Given the description of an element on the screen output the (x, y) to click on. 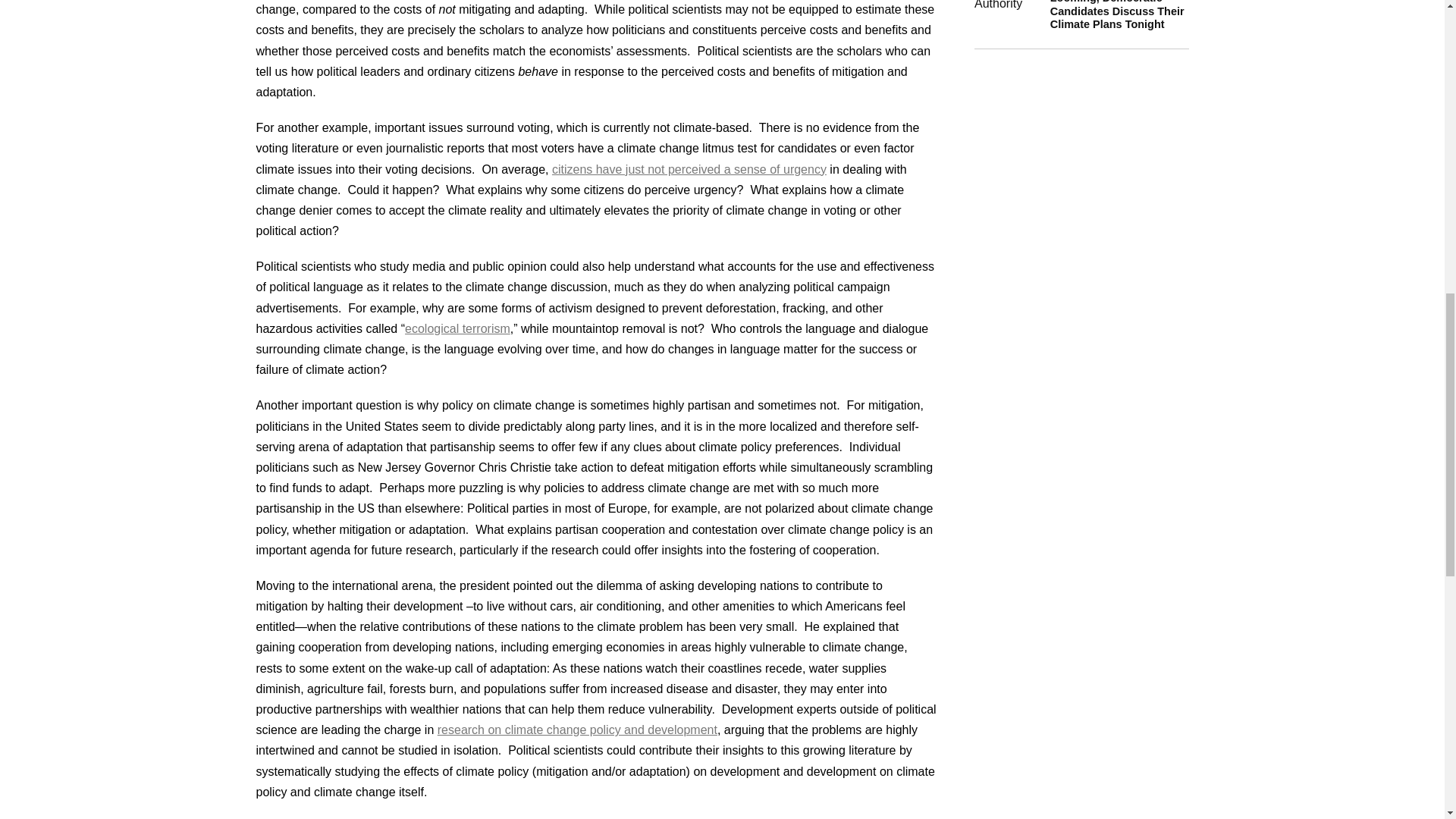
citizens have just not perceived a sense of urgency (689, 168)
ecological terrorism (457, 328)
research on climate change policy and development (577, 729)
